Given the description of an element on the screen output the (x, y) to click on. 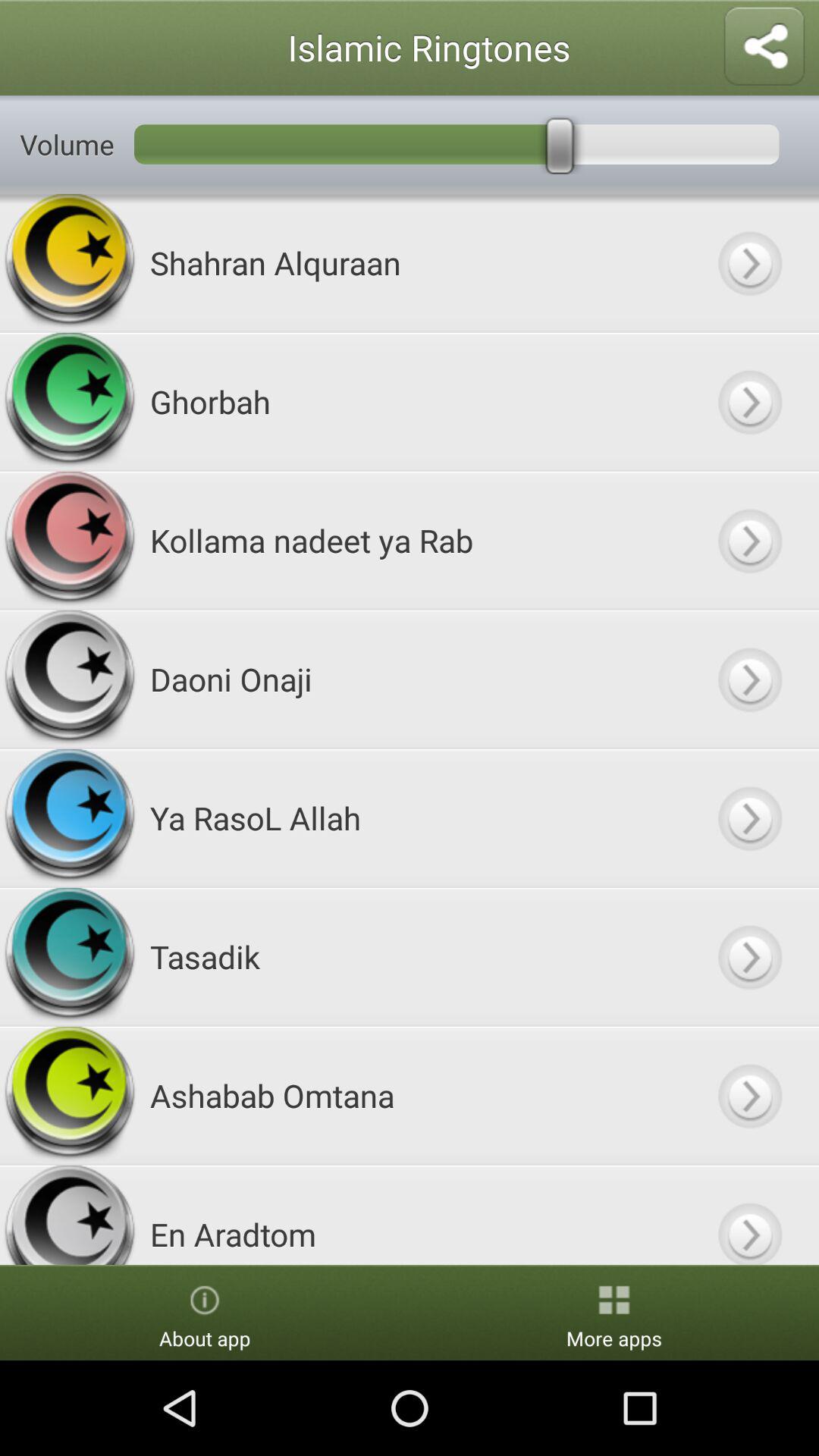
select kollama nadeet ya rab (749, 540)
